Given the description of an element on the screen output the (x, y) to click on. 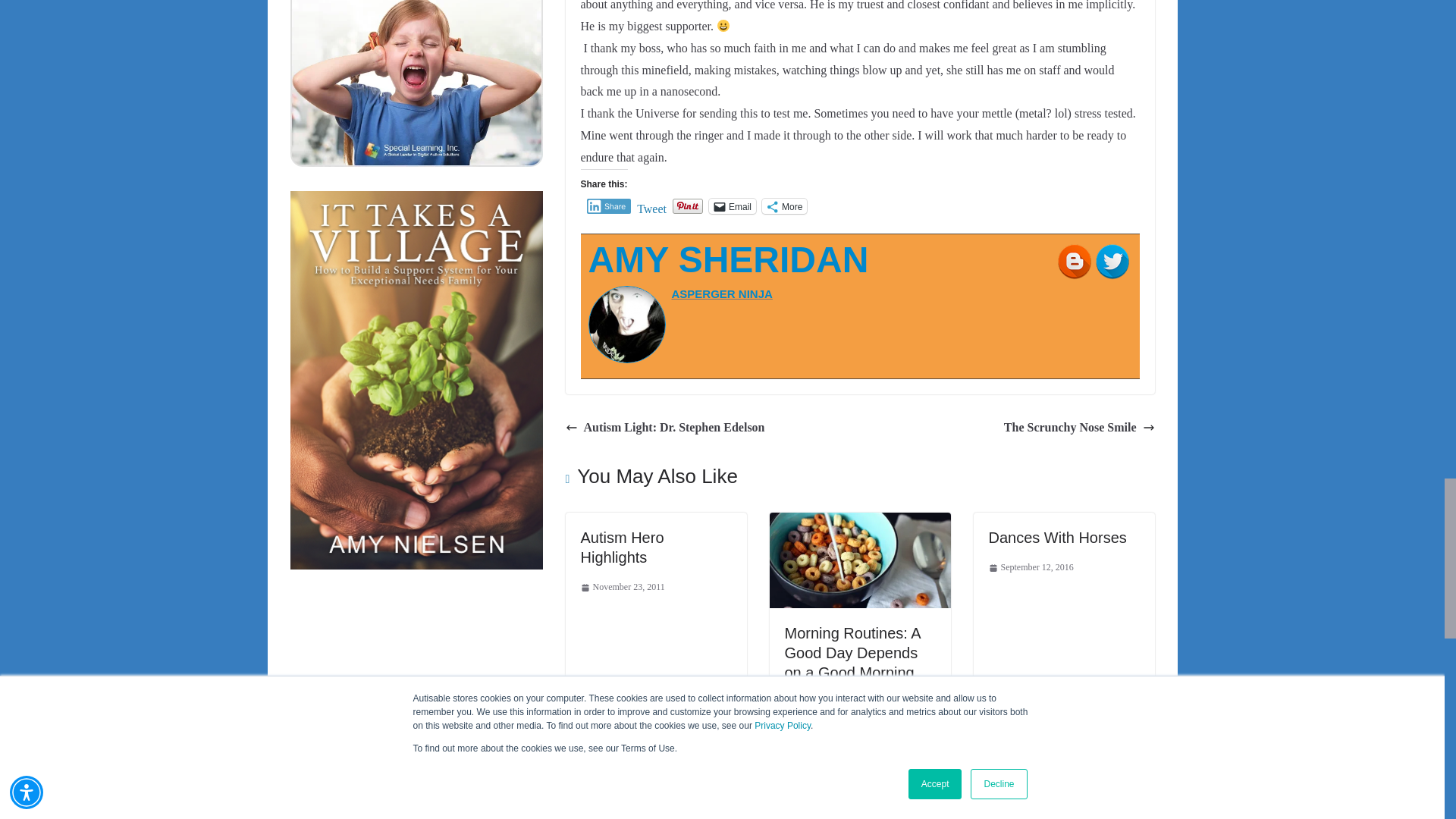
Autism Hero Highlights (621, 547)
The Scrunchy Nose Smile (1079, 427)
More (783, 206)
AMY SHERIDAN (728, 259)
Tweet (651, 205)
Share (608, 206)
November 23, 2011 (622, 587)
Click to email a link to a friend (732, 206)
11:00 am (622, 587)
ASPERGER NINJA (722, 293)
Autism Light: Dr. Stephen Edelson (665, 427)
Email (732, 206)
Autism Hero Highlights (621, 547)
Amy Sheridan (728, 259)
